Given the description of an element on the screen output the (x, y) to click on. 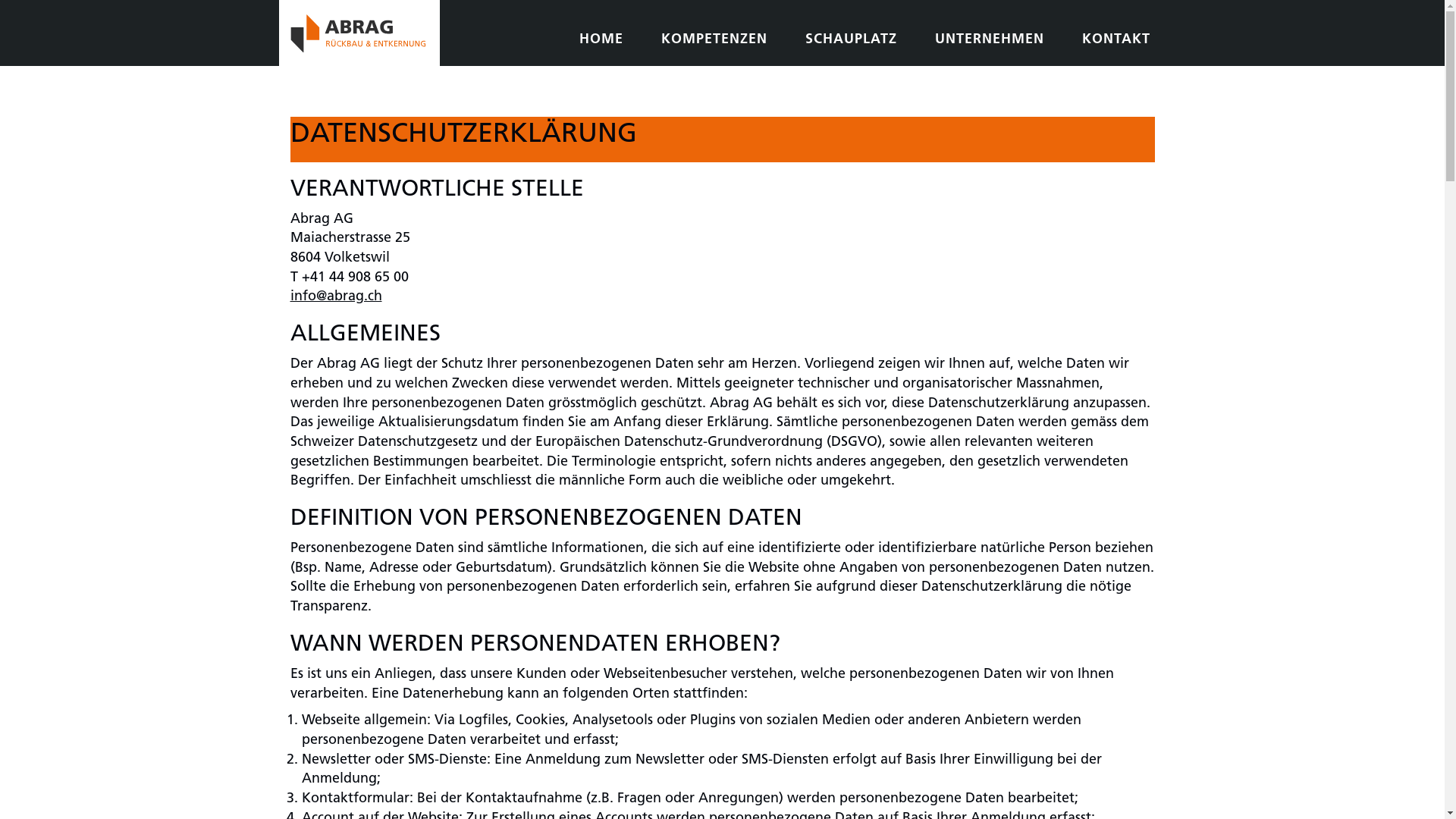
KOMPETENZEN Element type: text (713, 40)
UNTERNEHMEN Element type: text (988, 40)
SCHAUPLATZ Element type: text (850, 40)
info@abrag.ch Element type: text (335, 296)
HOME Element type: text (600, 40)
KONTAKT Element type: text (1115, 40)
